Given the description of an element on the screen output the (x, y) to click on. 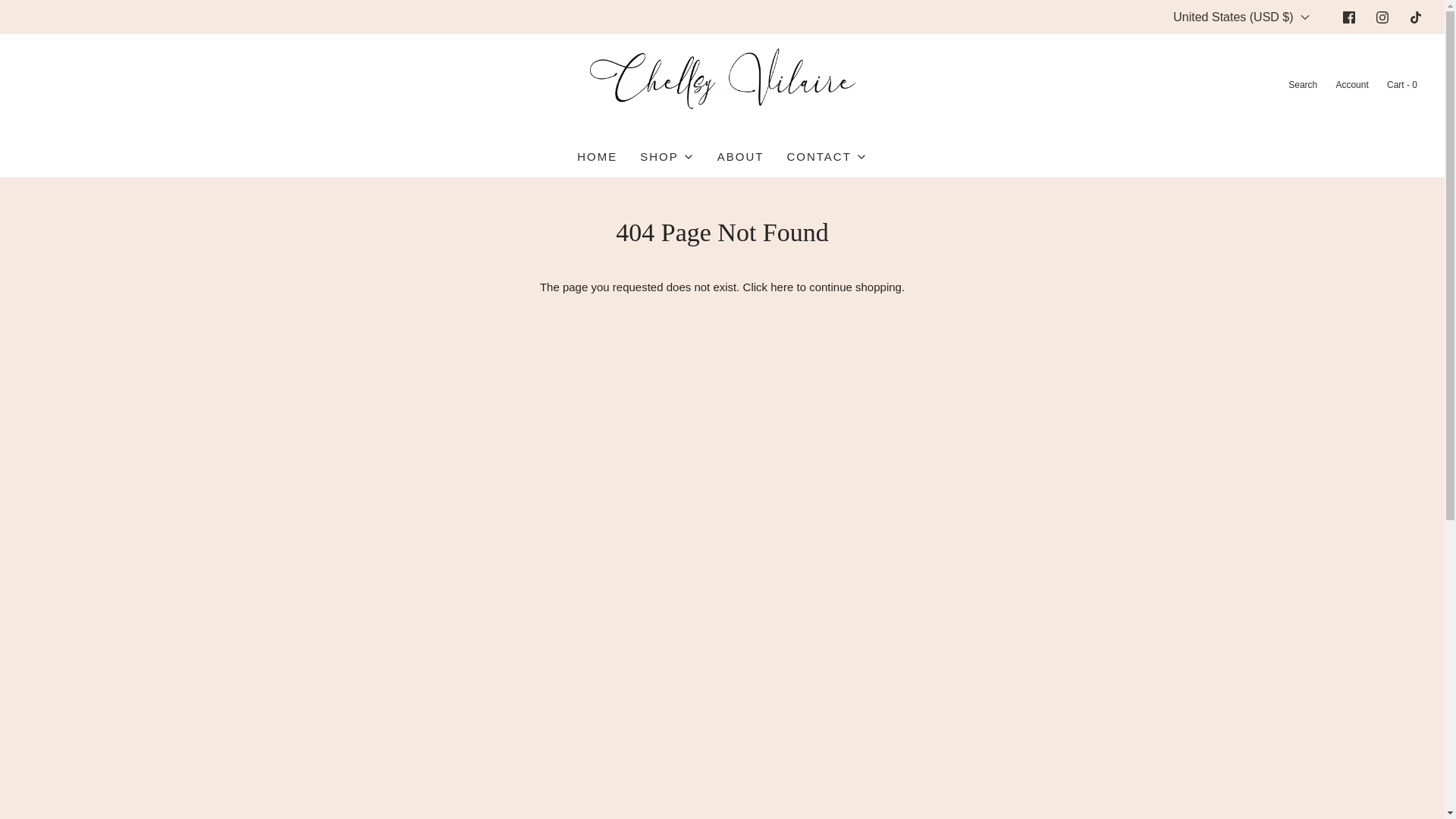
Log in (1350, 84)
Account (1350, 84)
Search (1301, 84)
Cart - 0 (1401, 84)
Cart (1401, 84)
Search (1301, 84)
SHOP (667, 157)
HOME (596, 157)
